Given the description of an element on the screen output the (x, y) to click on. 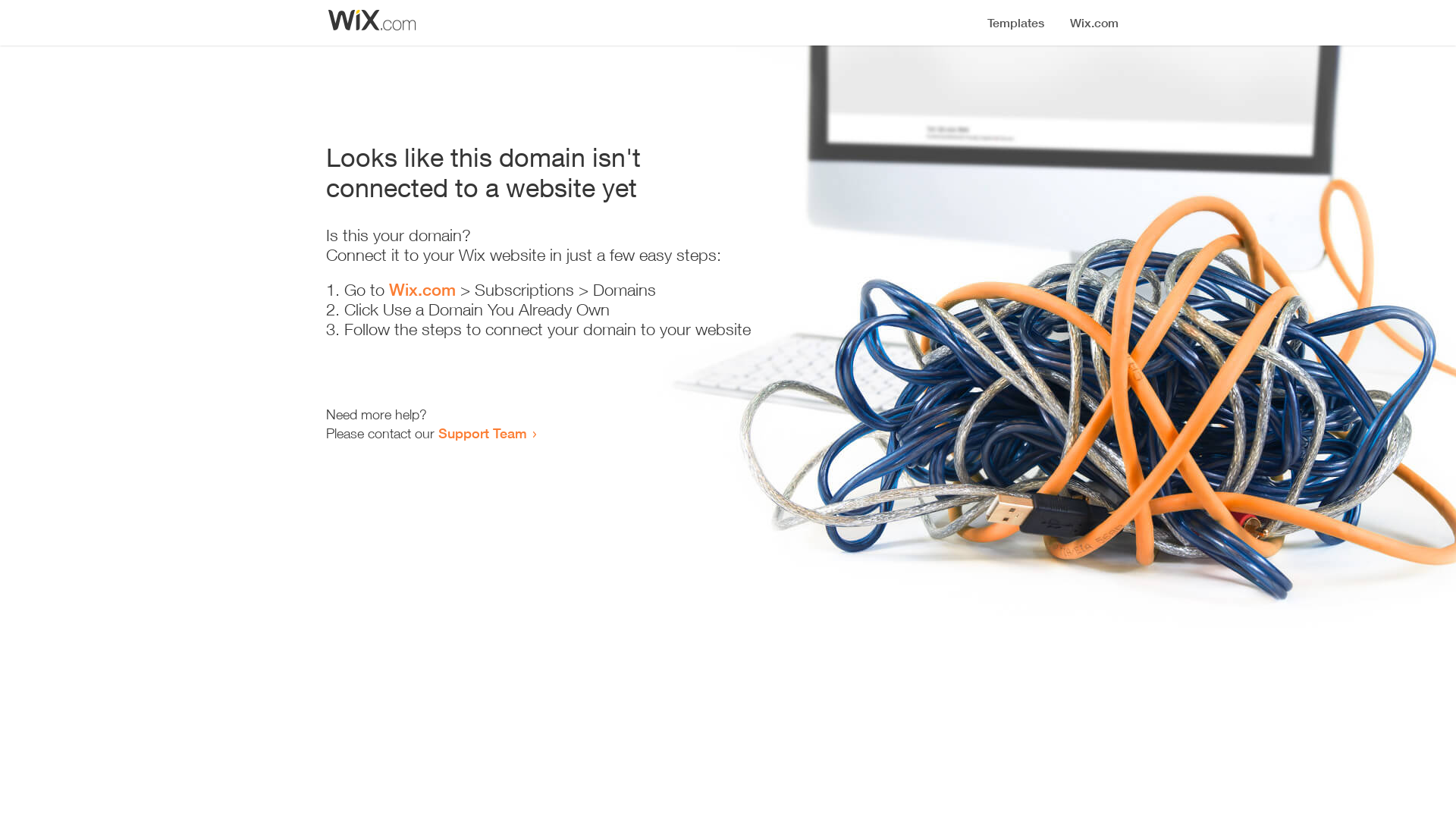
Support Team Element type: text (482, 432)
Wix.com Element type: text (422, 289)
